Given the description of an element on the screen output the (x, y) to click on. 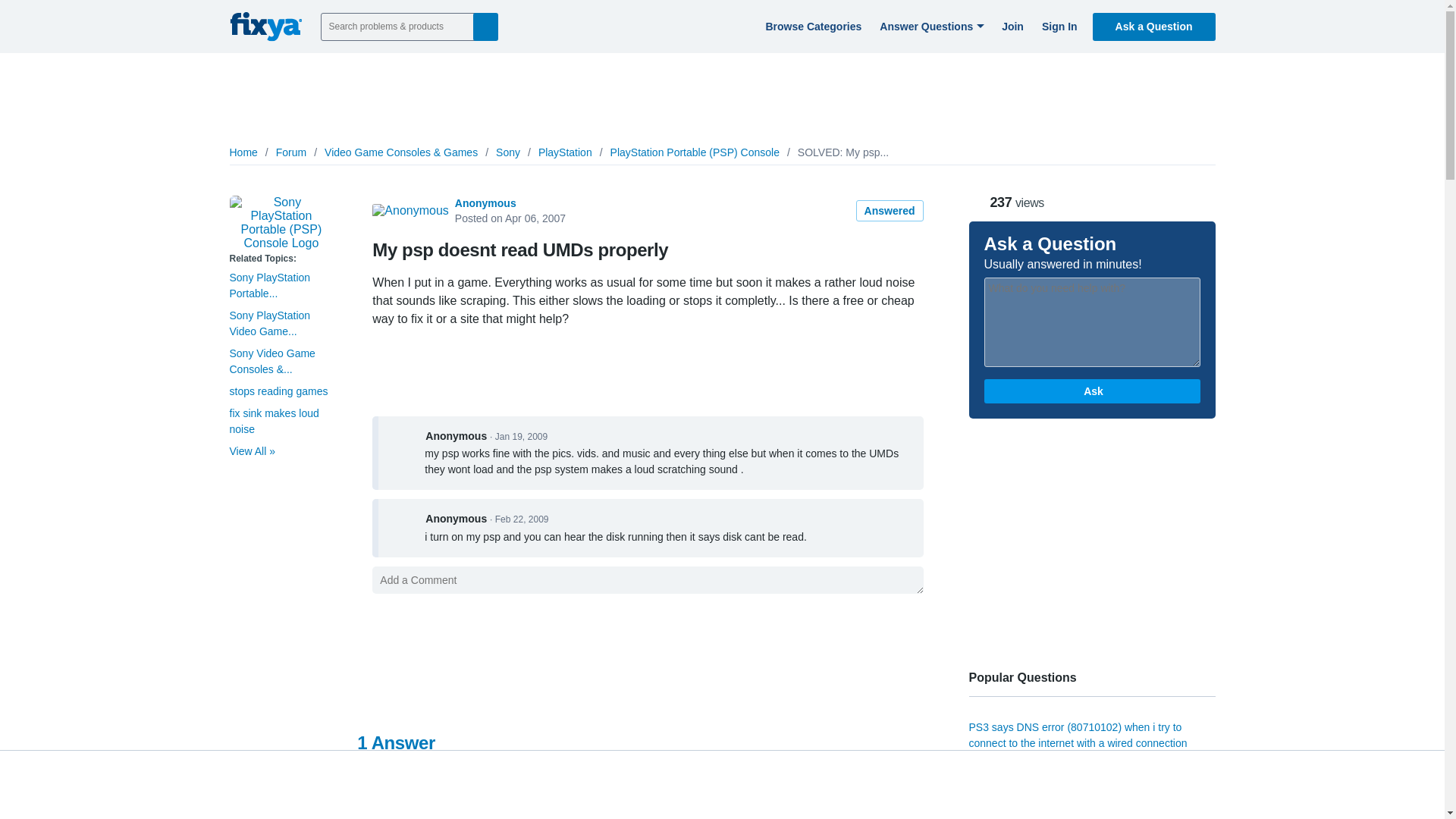
Home (242, 152)
Share on Pinterest (1170, 194)
Search Fixya (485, 26)
Sony PlayStation Portable... (269, 285)
Share on Twitter (1139, 188)
Search Fixya (485, 26)
fix sink makes loud noise (273, 420)
stops reading games (277, 390)
Share on Pinterest (1170, 194)
Browse Categories (810, 26)
PlayStation (565, 152)
Share on Facebook (1108, 194)
Search Fixya (485, 26)
Sony PlayStation Video Game... (269, 323)
Answer Questions (929, 26)
